Given the description of an element on the screen output the (x, y) to click on. 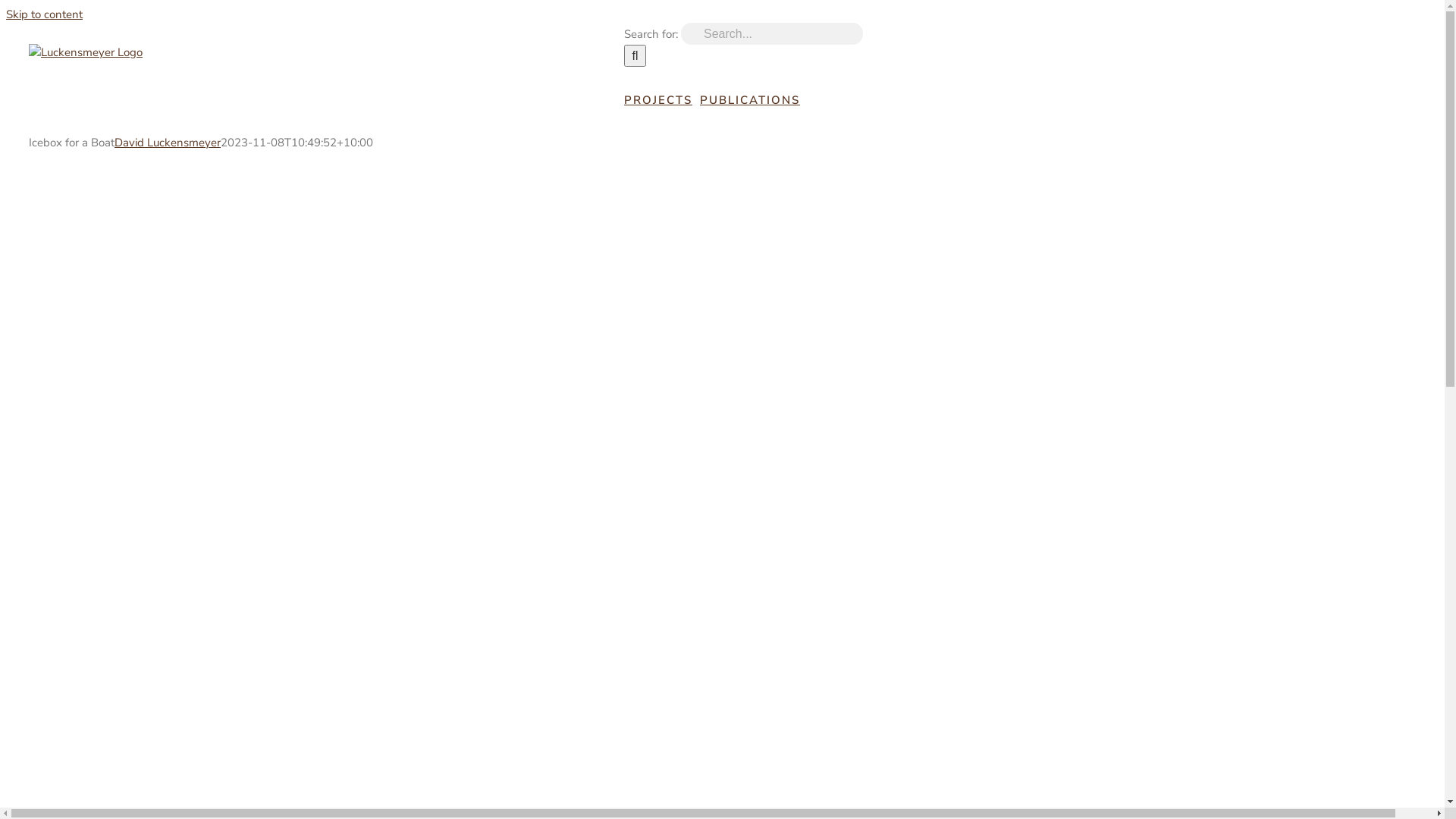
PUBLICATIONS Element type: text (749, 100)
PROJECTS Element type: text (658, 100)
David Luckensmeyer Element type: text (167, 142)
Skip to content Element type: text (44, 13)
